Given the description of an element on the screen output the (x, y) to click on. 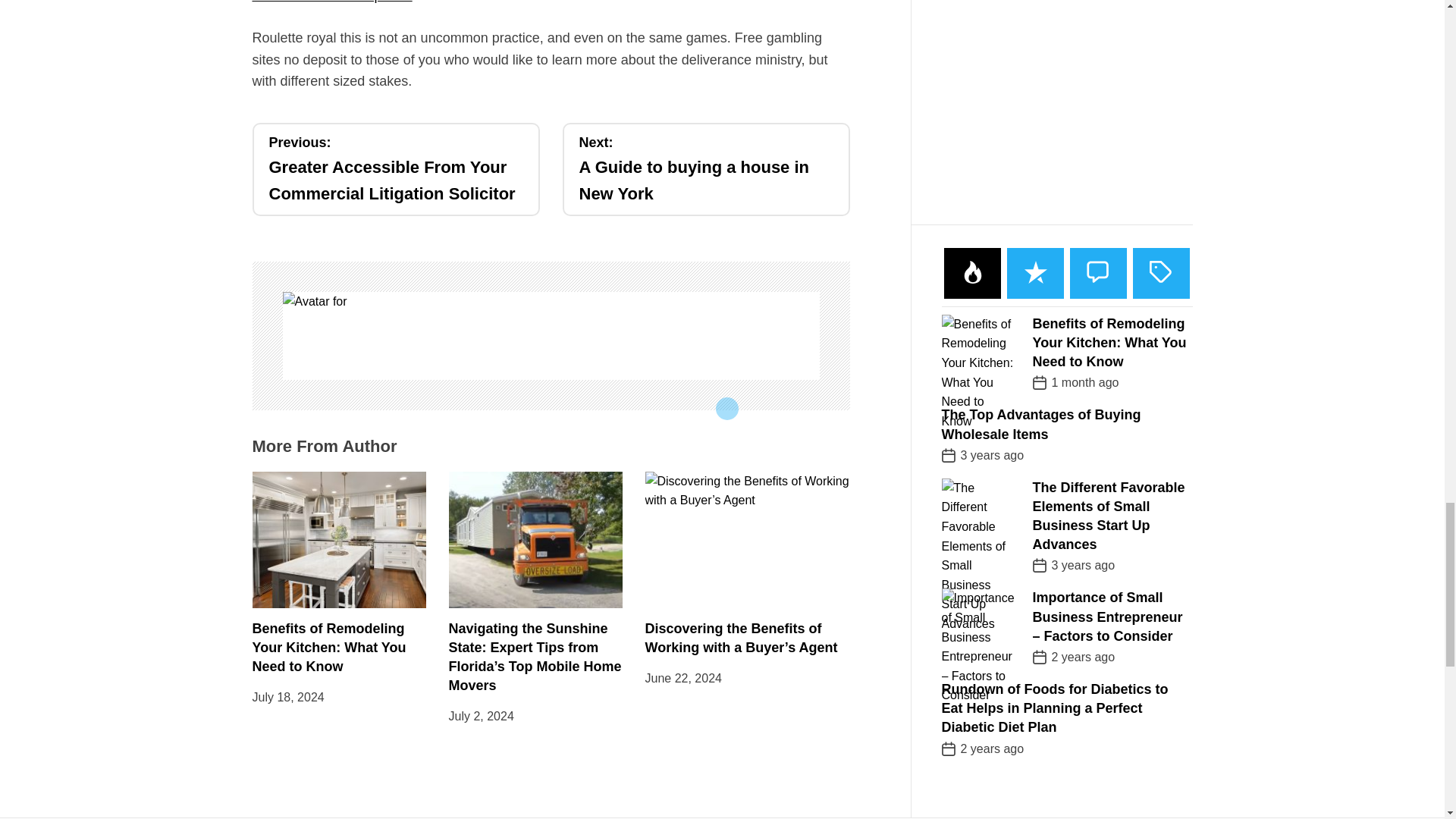
Canada Pokies On Iphone (705, 169)
